Given the description of an element on the screen output the (x, y) to click on. 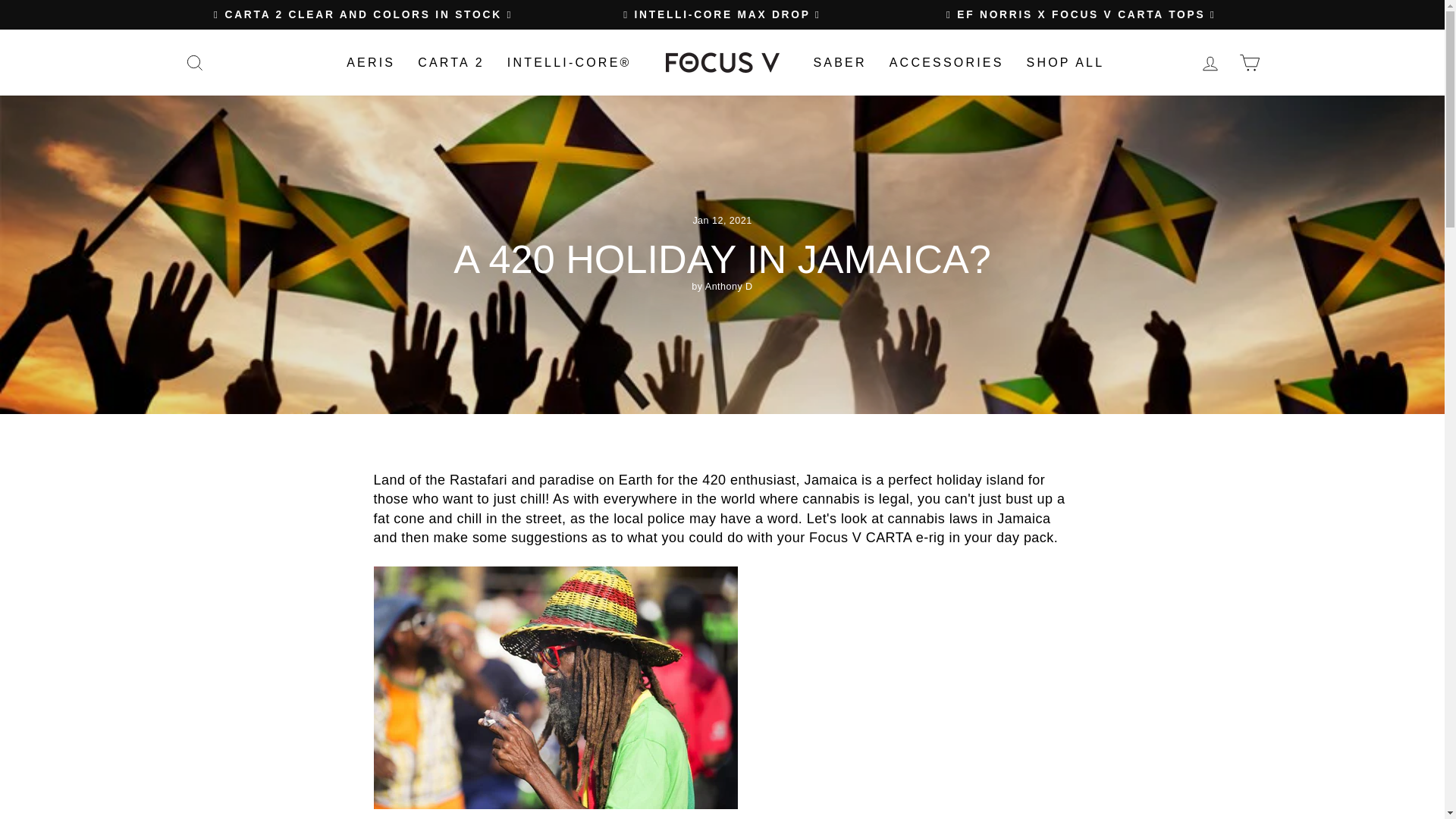
SEARCH (194, 61)
AERIS (370, 62)
CARTA 2 (451, 62)
